Given the description of an element on the screen output the (x, y) to click on. 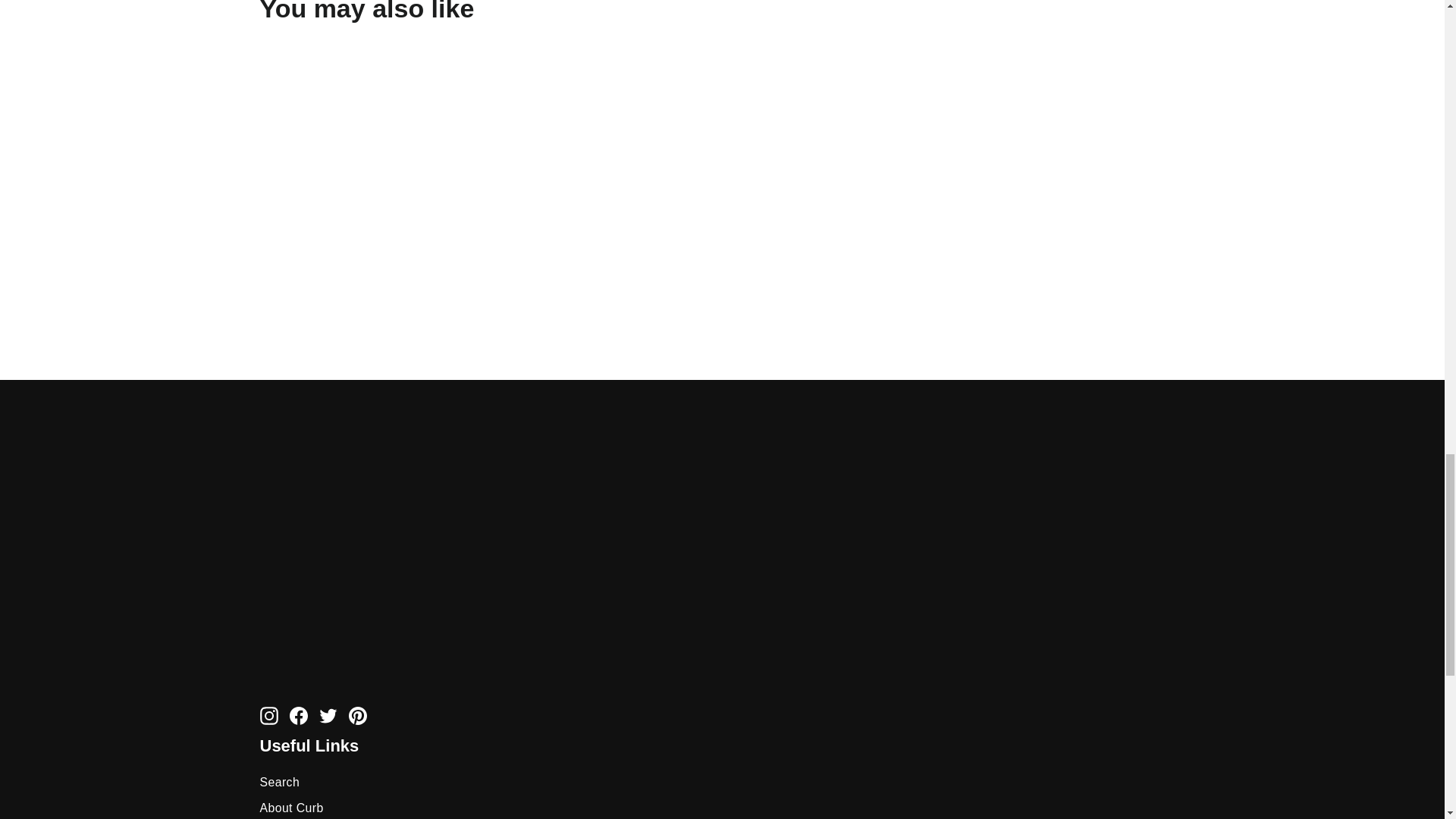
The Curb Shop on Facebook (298, 714)
The Curb Shop on Pinterest (357, 714)
The Curb Shop on Instagram (268, 714)
The Curb Shop on Twitter (327, 714)
